Given the description of an element on the screen output the (x, y) to click on. 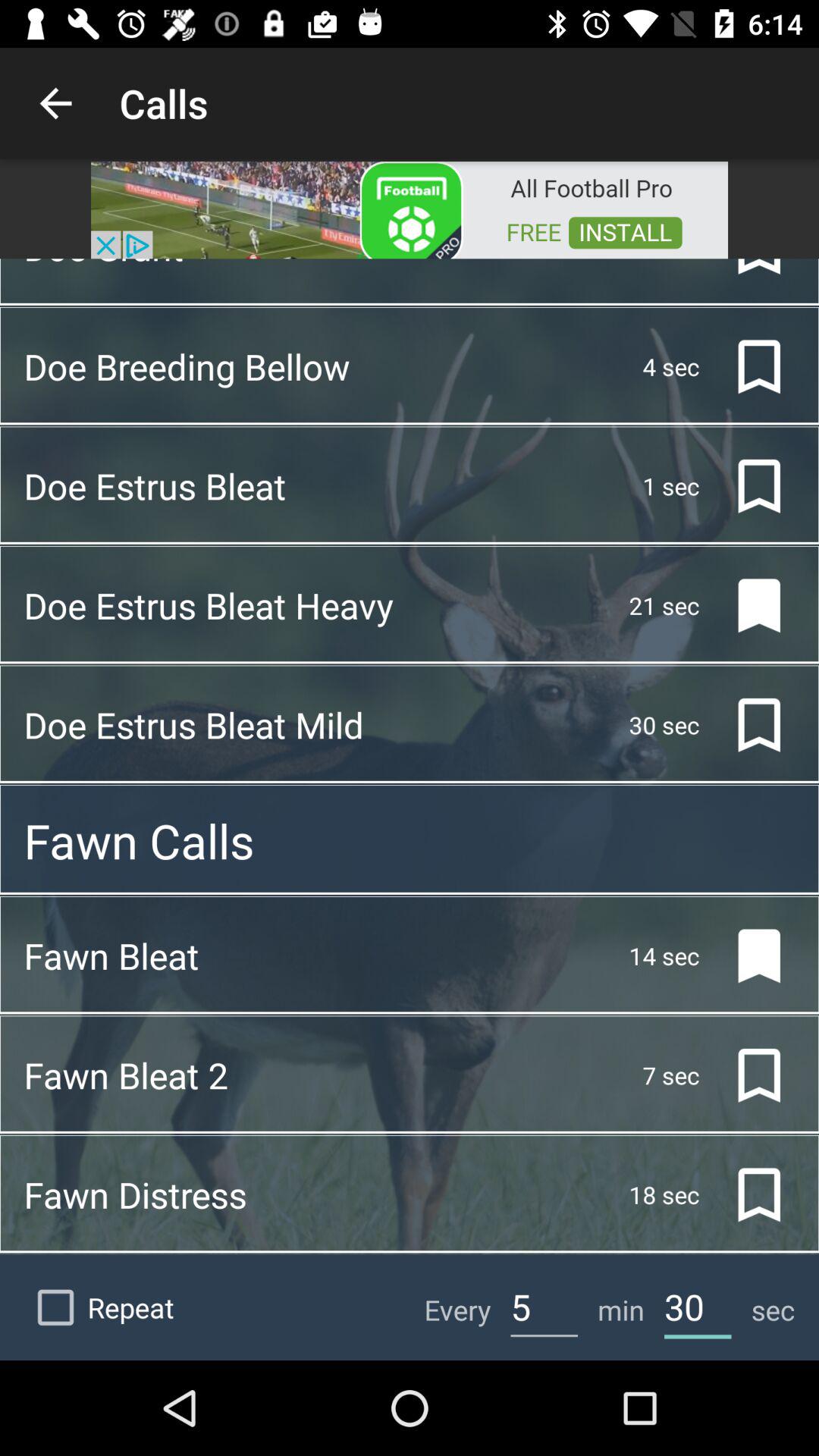
open this advertisement (409, 208)
